Given the description of an element on the screen output the (x, y) to click on. 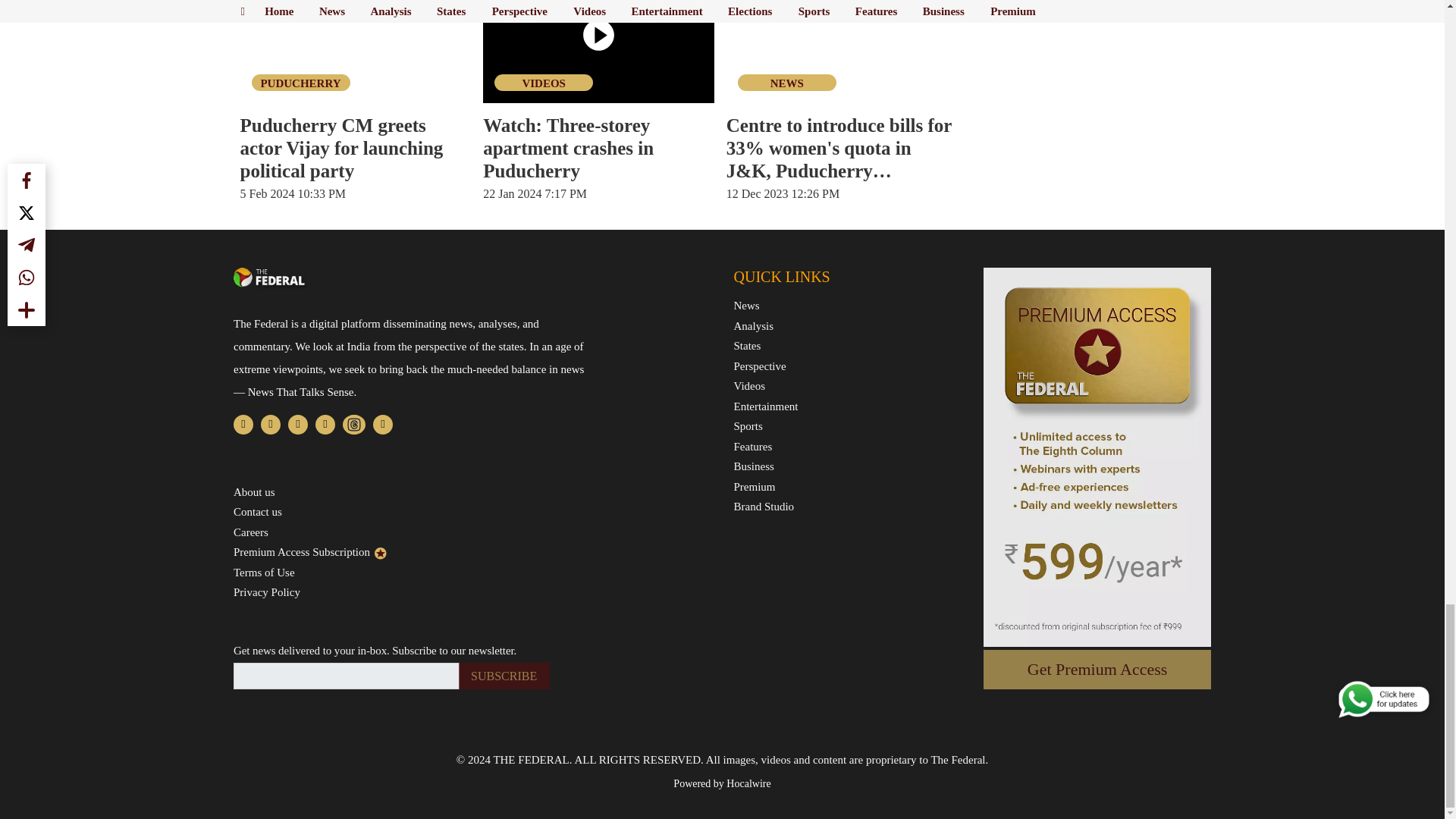
Tamil actor Vijay (355, 51)
Lok Sabha (842, 51)
Watch: Three-storey apartment crashes in Puducherry (598, 51)
Subscribe (504, 675)
